Given the description of an element on the screen output the (x, y) to click on. 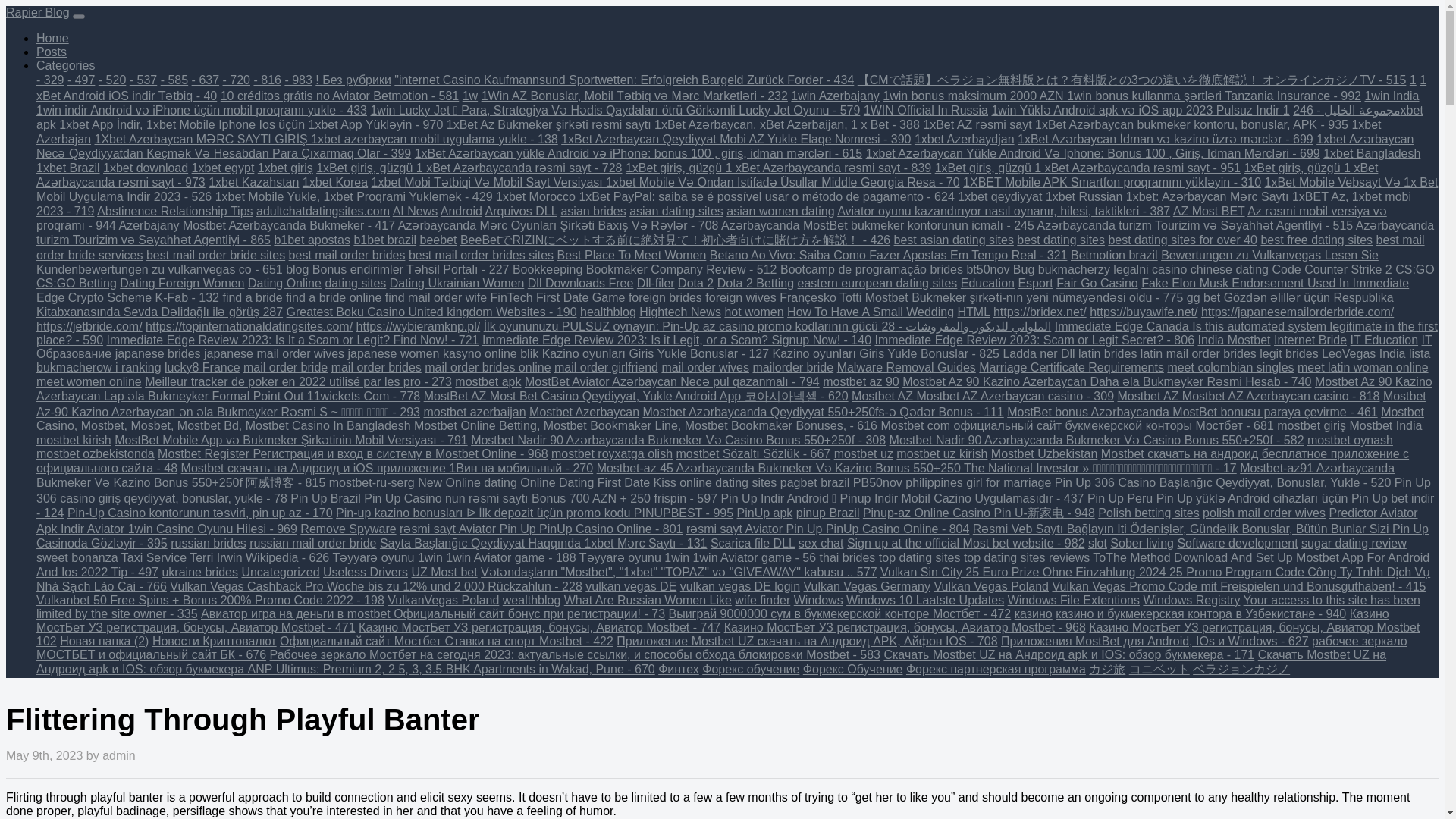
1win India (1391, 95)
1win Azerbajany (834, 95)
- 537 (143, 79)
- 637 (205, 79)
Rapier Blog (37, 11)
Categories (65, 65)
1xbet Azerbaydjan (964, 138)
- 520 (112, 79)
1WIN Official In Russia (925, 110)
- 497 (80, 79)
